Given the description of an element on the screen output the (x, y) to click on. 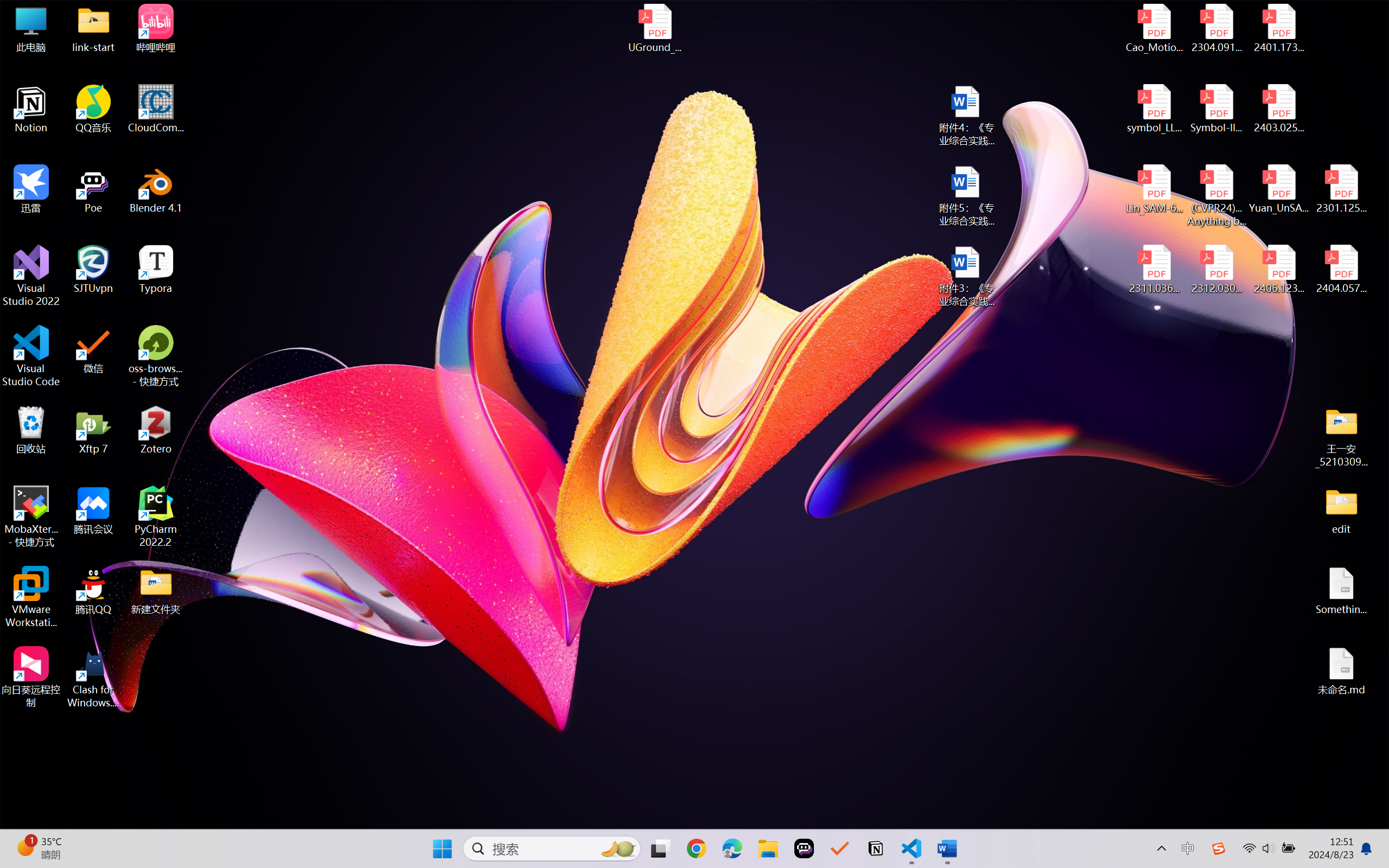
2304.09121v3.pdf (1216, 28)
2301.12597v3.pdf (1340, 189)
Xftp 7 (93, 430)
Typora (156, 269)
symbol_LLM.pdf (1154, 109)
2401.17399v1.pdf (1278, 28)
2406.12373v2.pdf (1278, 269)
edit (1340, 510)
